Given the description of an element on the screen output the (x, y) to click on. 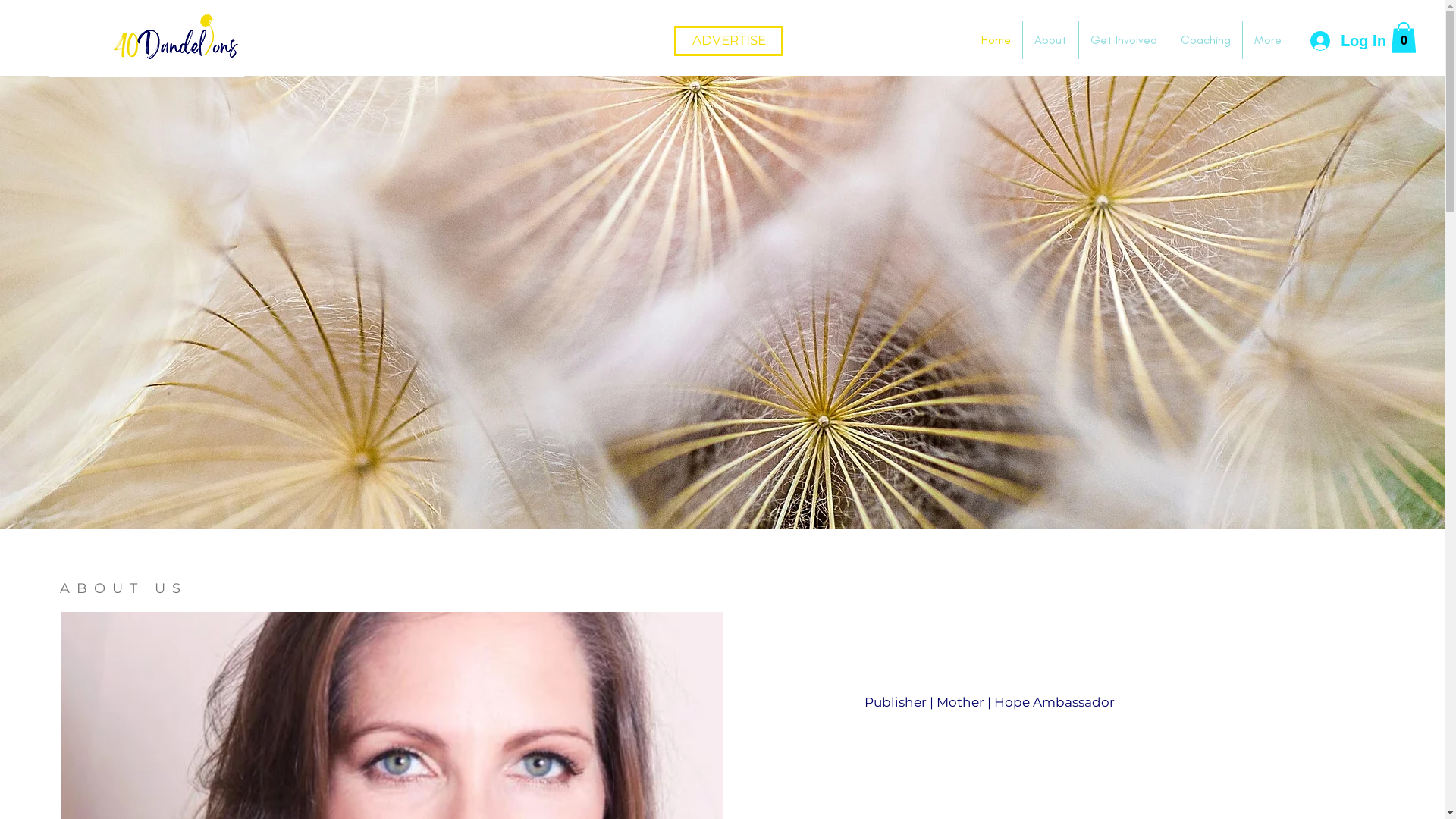
Coaching Element type: text (1205, 40)
About Element type: text (1050, 40)
0 Element type: text (1403, 37)
Log In Element type: text (1344, 40)
Home Element type: text (995, 40)
ADVERTISE Element type: text (728, 40)
Get Involved Element type: text (1123, 40)
